Given the description of an element on the screen output the (x, y) to click on. 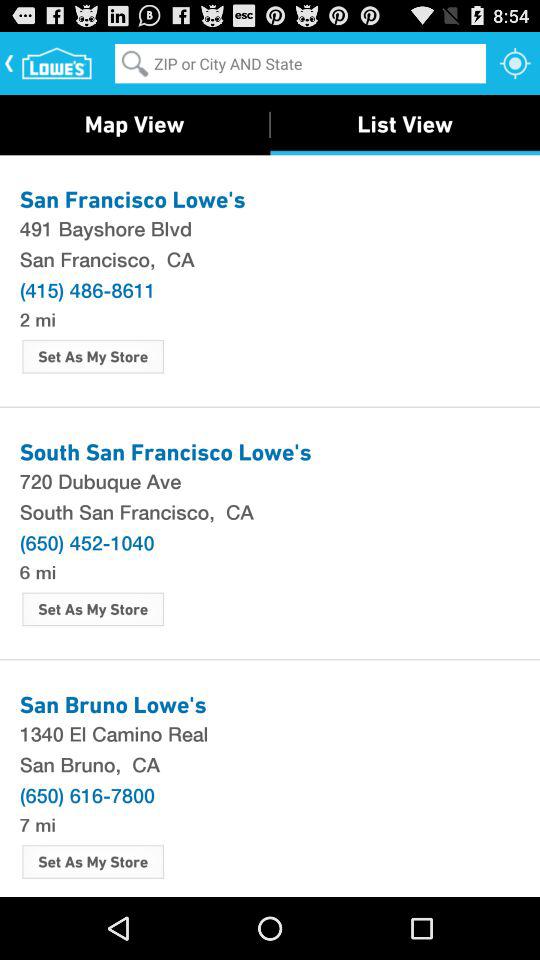
open the 1340 el camino icon (269, 733)
